Given the description of an element on the screen output the (x, y) to click on. 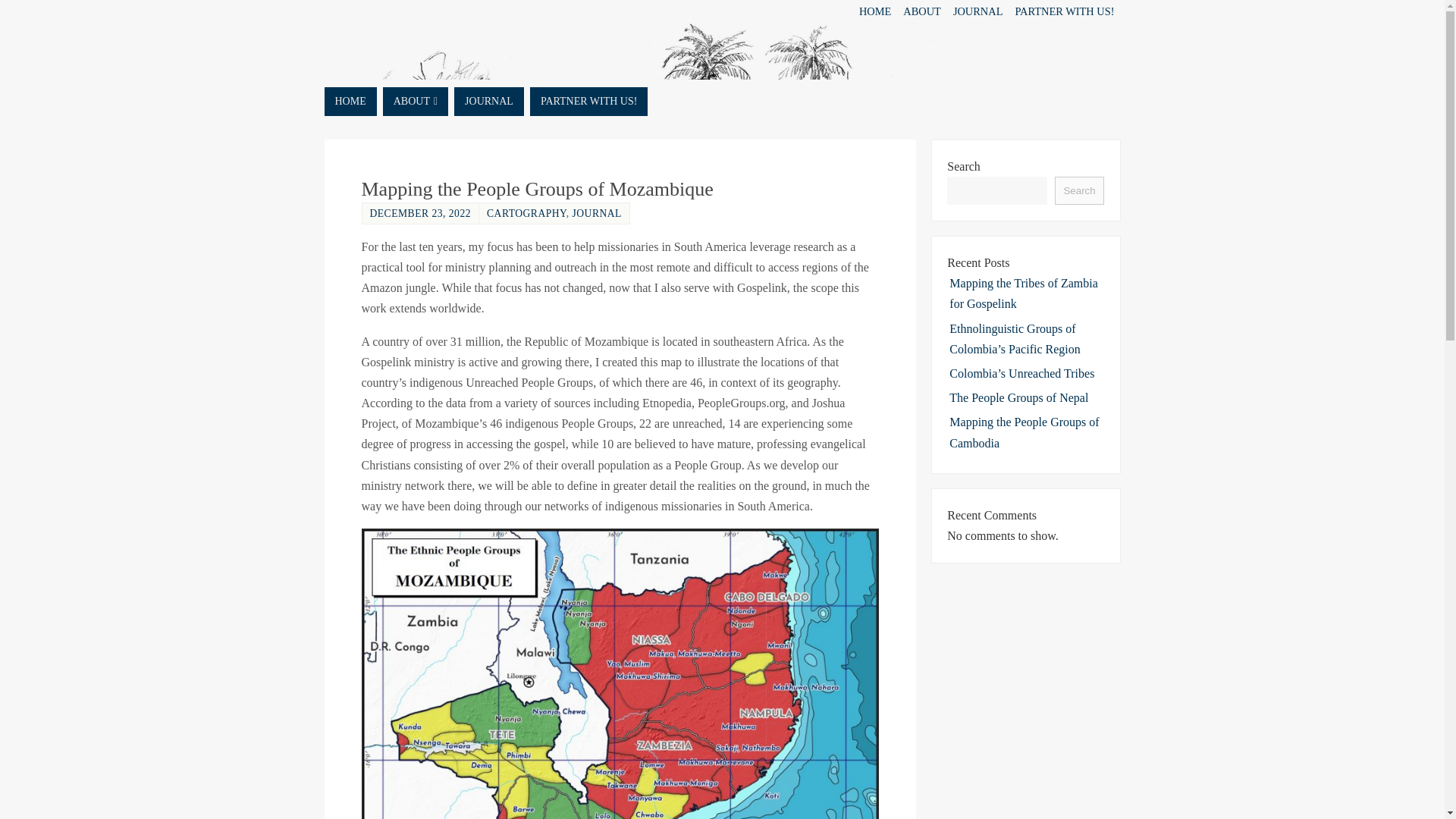
Search (1078, 190)
The People Groups of Nepal (1018, 397)
CARTOGRAPHY (526, 213)
Mapping the People Groups of Cambodia (1024, 431)
ABOUT (415, 101)
HOME (875, 11)
ABOUT (921, 11)
HOME (350, 101)
JOURNAL (596, 213)
PARTNER WITH US! (1064, 11)
PARTNER WITH US! (588, 101)
DECEMBER 23, 2022 (420, 213)
Mapping the Tribes of Zambia for Gospelink (1023, 293)
JOURNAL (489, 101)
